Given the description of an element on the screen output the (x, y) to click on. 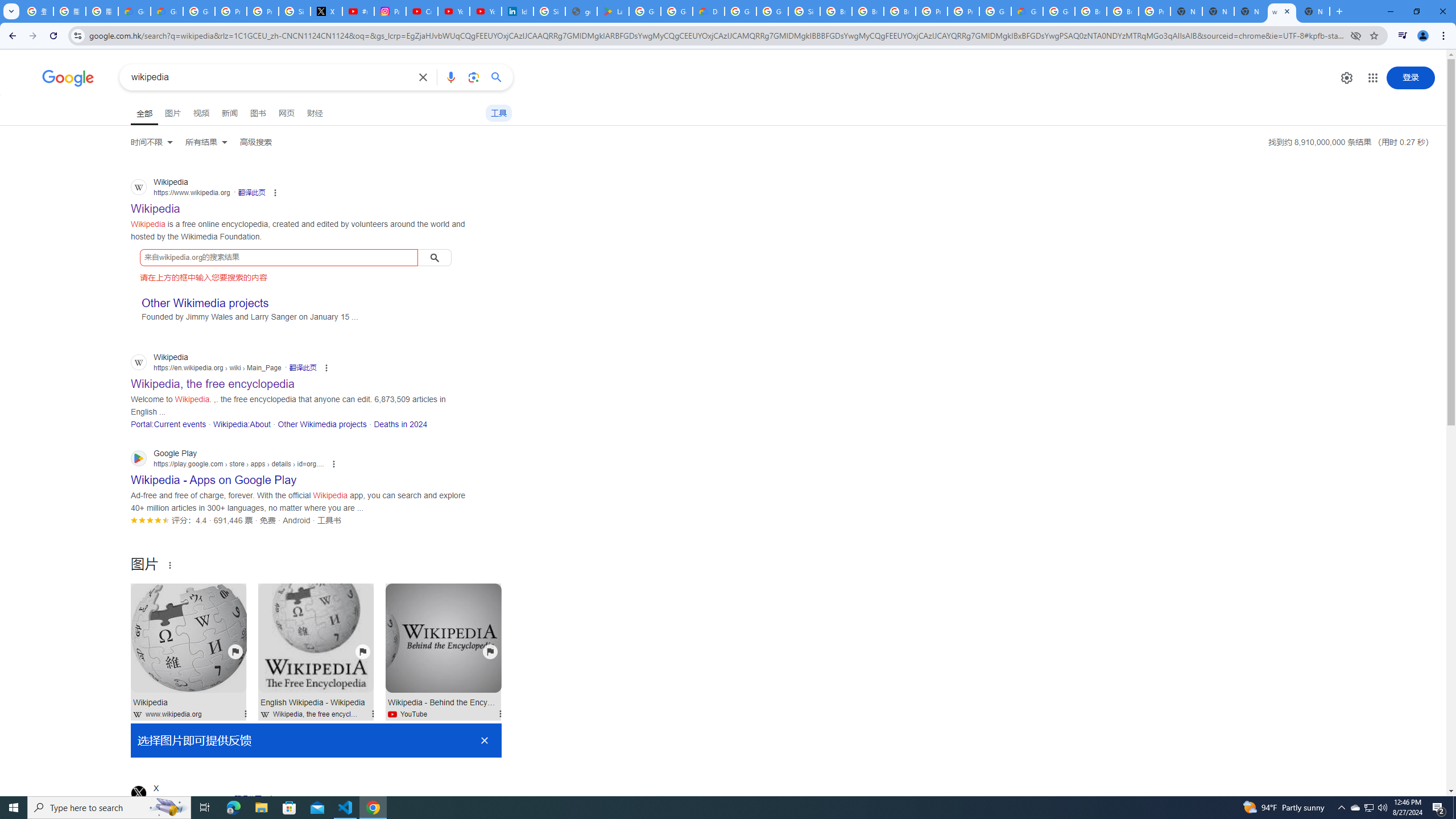
New Tab (1185, 11)
Other Wikimedia projects (322, 424)
Google Workspace - Specific Terms (676, 11)
